Given the description of an element on the screen output the (x, y) to click on. 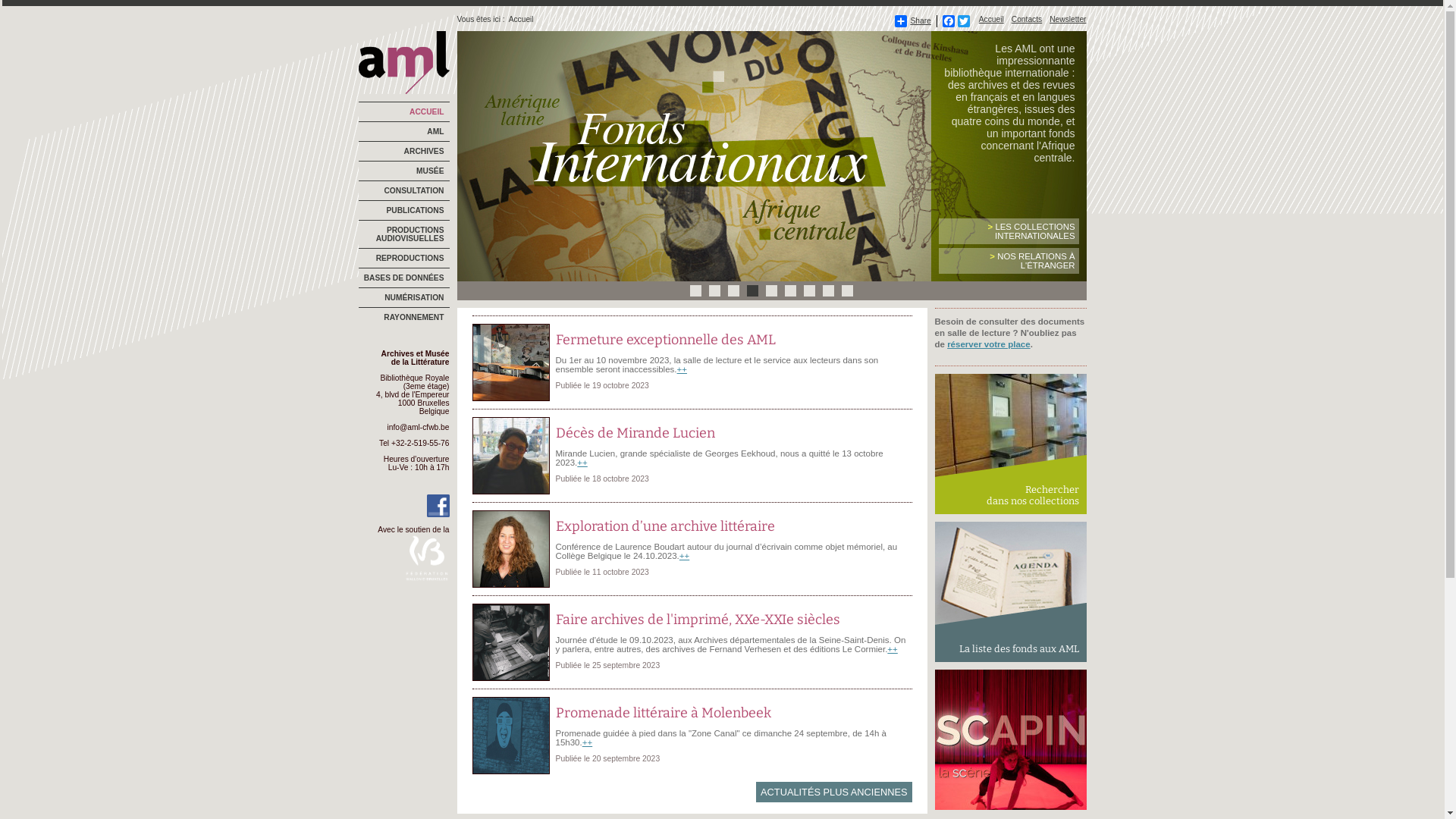
++ Element type: text (581, 462)
PUBLICATIONS Element type: text (402, 209)
REPRODUCTIONS Element type: text (402, 256)
6 Element type: text (790, 290)
4 Element type: text (752, 290)
++ Element type: text (892, 648)
++ Element type: text (587, 741)
Contacts Element type: text (1026, 19)
Accueil Element type: text (991, 19)
++ Element type: text (684, 555)
++ Element type: text (682, 368)
LES COLLECTIONS INTERNATIONALES Element type: text (1031, 231)
1 Element type: text (695, 290)
La liste des fonds aux AML Element type: text (1009, 591)
ACCUEIL Element type: text (402, 111)
3 Element type: text (733, 290)
Share Element type: text (912, 21)
Fermeture exceptionnelle des AML Element type: text (665, 339)
8 Element type: text (828, 290)
Facebook Element type: text (948, 21)
ARCHIVES Element type: text (402, 150)
Page Facebook Element type: hover (437, 513)
2 Element type: text (714, 290)
9 Element type: text (847, 290)
RAYONNEMENT Element type: text (402, 316)
+32-2-519-55-76 Element type: text (420, 442)
Newsletter Element type: text (1067, 19)
Rechercher
dans nos collections Element type: text (1009, 443)
Twitter Element type: text (963, 21)
AML Element type: text (402, 131)
info@aml-cfwb.be Element type: text (417, 427)
PRODUCTIONS AUDIOVISUELLES Element type: text (402, 233)
CONSULTATION Element type: text (402, 190)
5 Element type: text (771, 290)
7 Element type: text (809, 290)
